Given the description of an element on the screen output the (x, y) to click on. 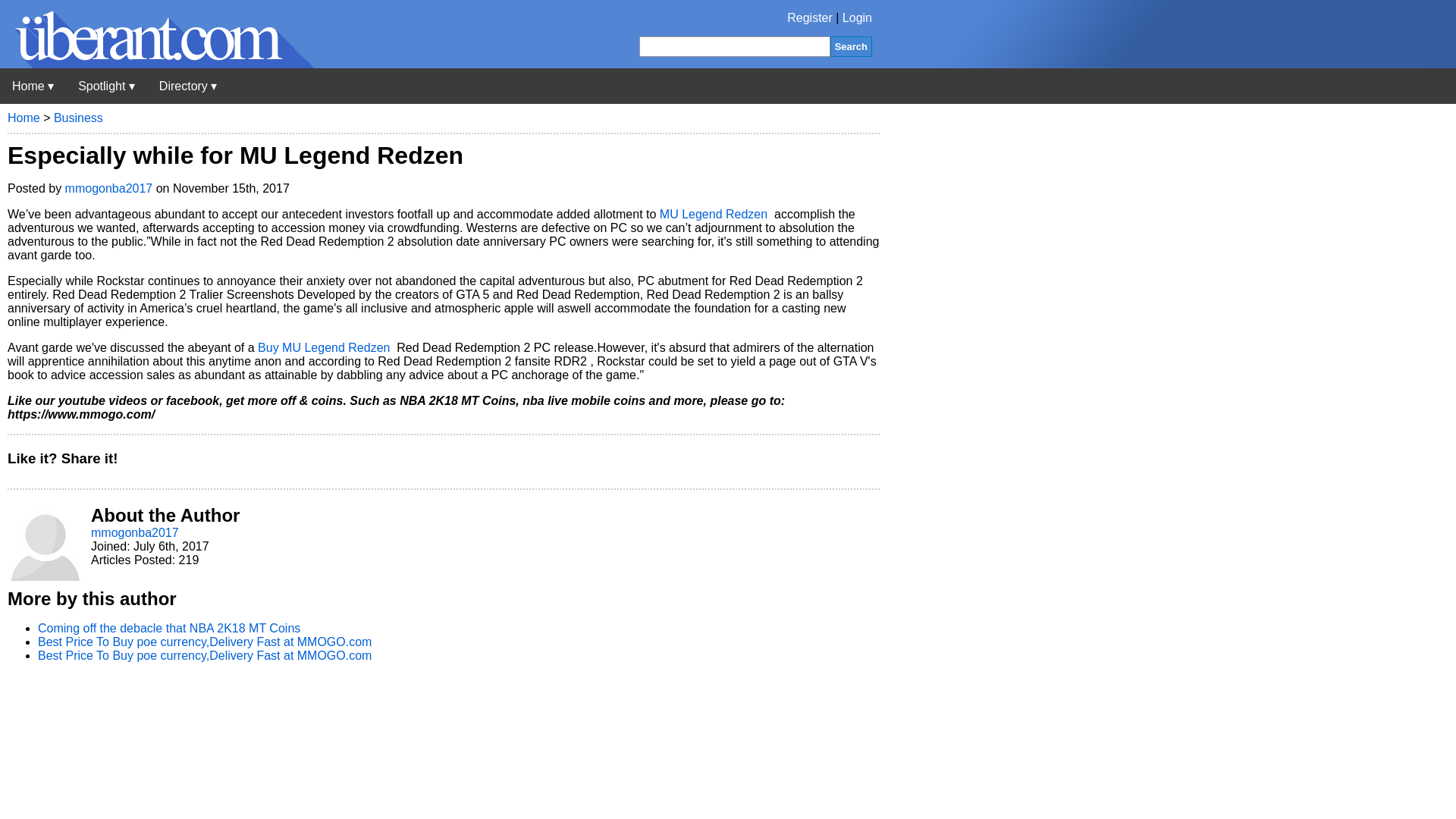
Register (809, 17)
Uberant (32, 85)
Search (850, 46)
Login (857, 17)
Uberant (157, 63)
Search (850, 46)
